Given the description of an element on the screen output the (x, y) to click on. 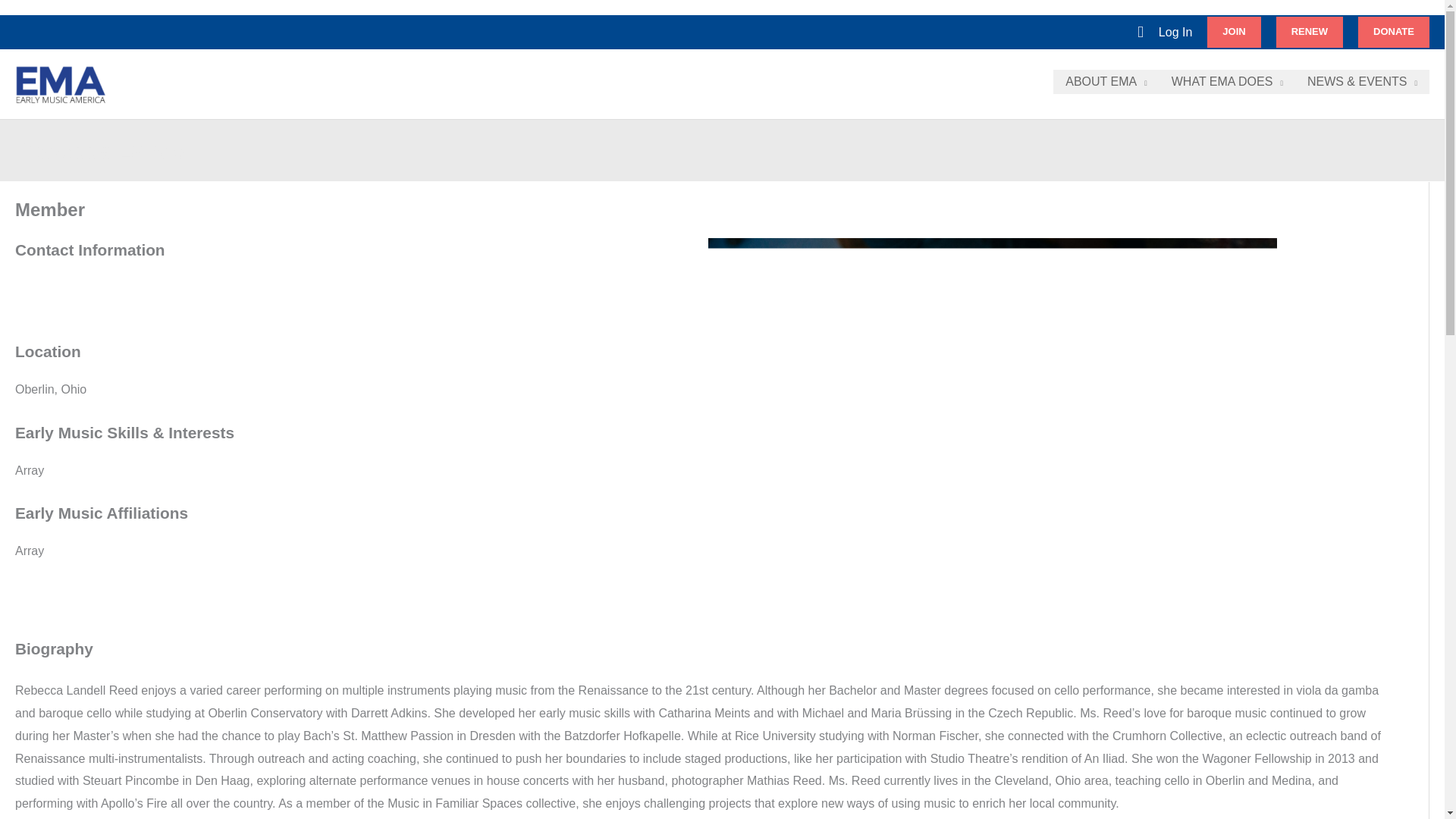
DONATE (1393, 31)
ABOUT EMA (1105, 81)
RENEW (1309, 31)
Log In (1175, 32)
JOIN (1233, 31)
Search (1139, 31)
